Given the description of an element on the screen output the (x, y) to click on. 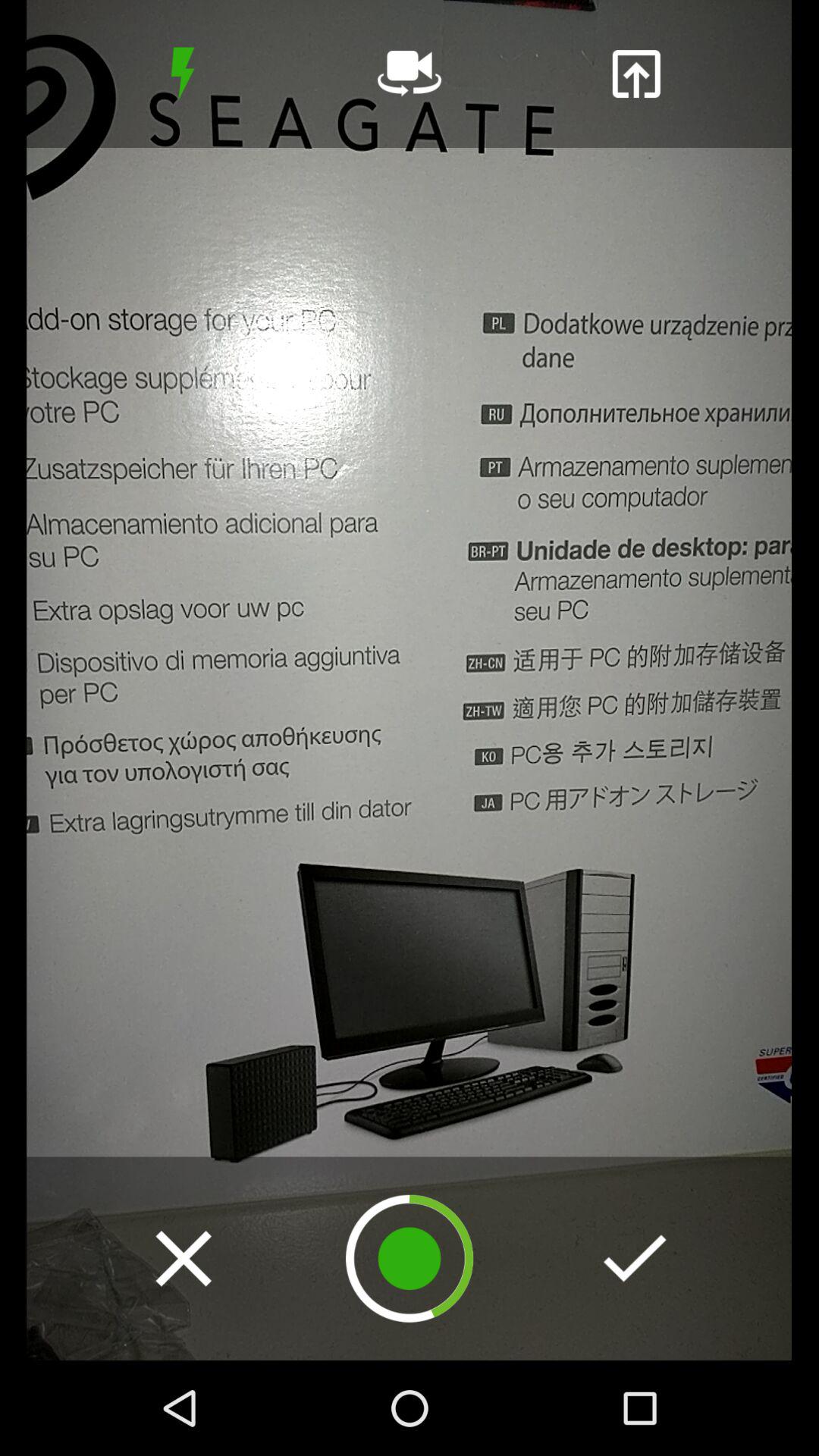
upload (635, 73)
